Given the description of an element on the screen output the (x, y) to click on. 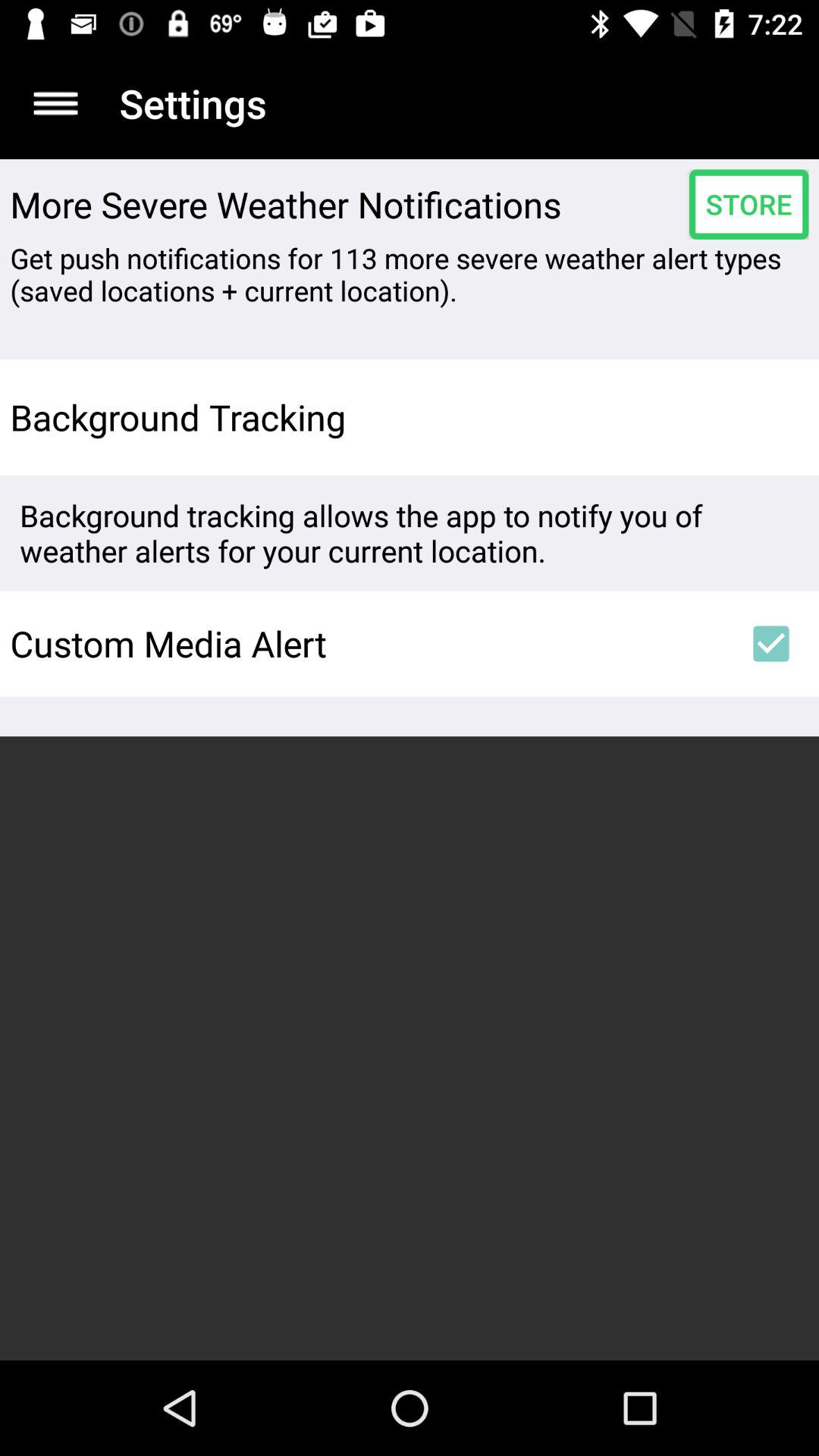
open menu (55, 103)
